Given the description of an element on the screen output the (x, y) to click on. 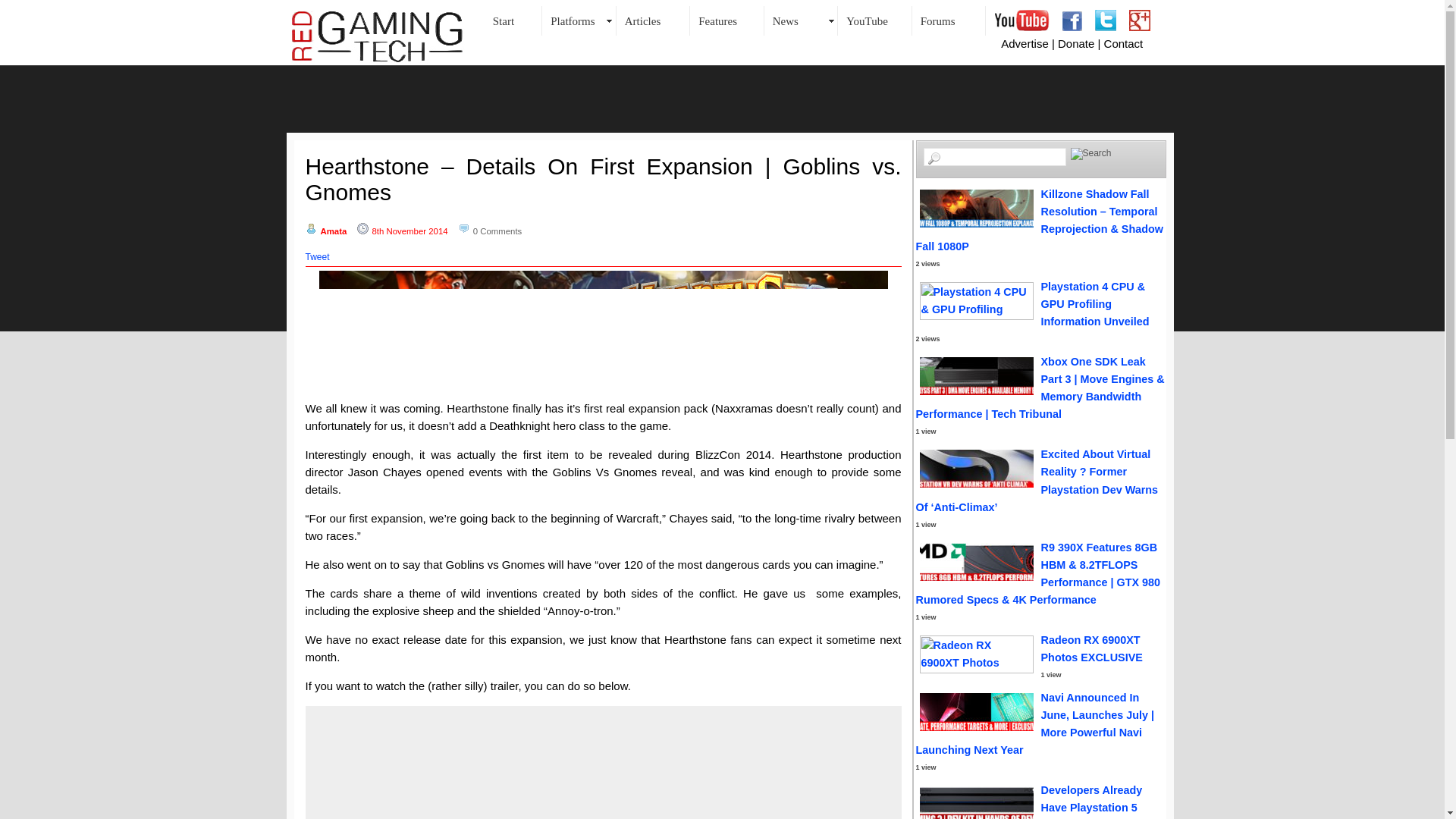
Platforms (578, 20)
0 Comments (497, 230)
Donate (1076, 42)
RedGamingTech (377, 36)
YouTube (875, 20)
Start (513, 20)
Advertise (1024, 42)
Tweet (316, 256)
Features (727, 20)
News (801, 20)
